Given the description of an element on the screen output the (x, y) to click on. 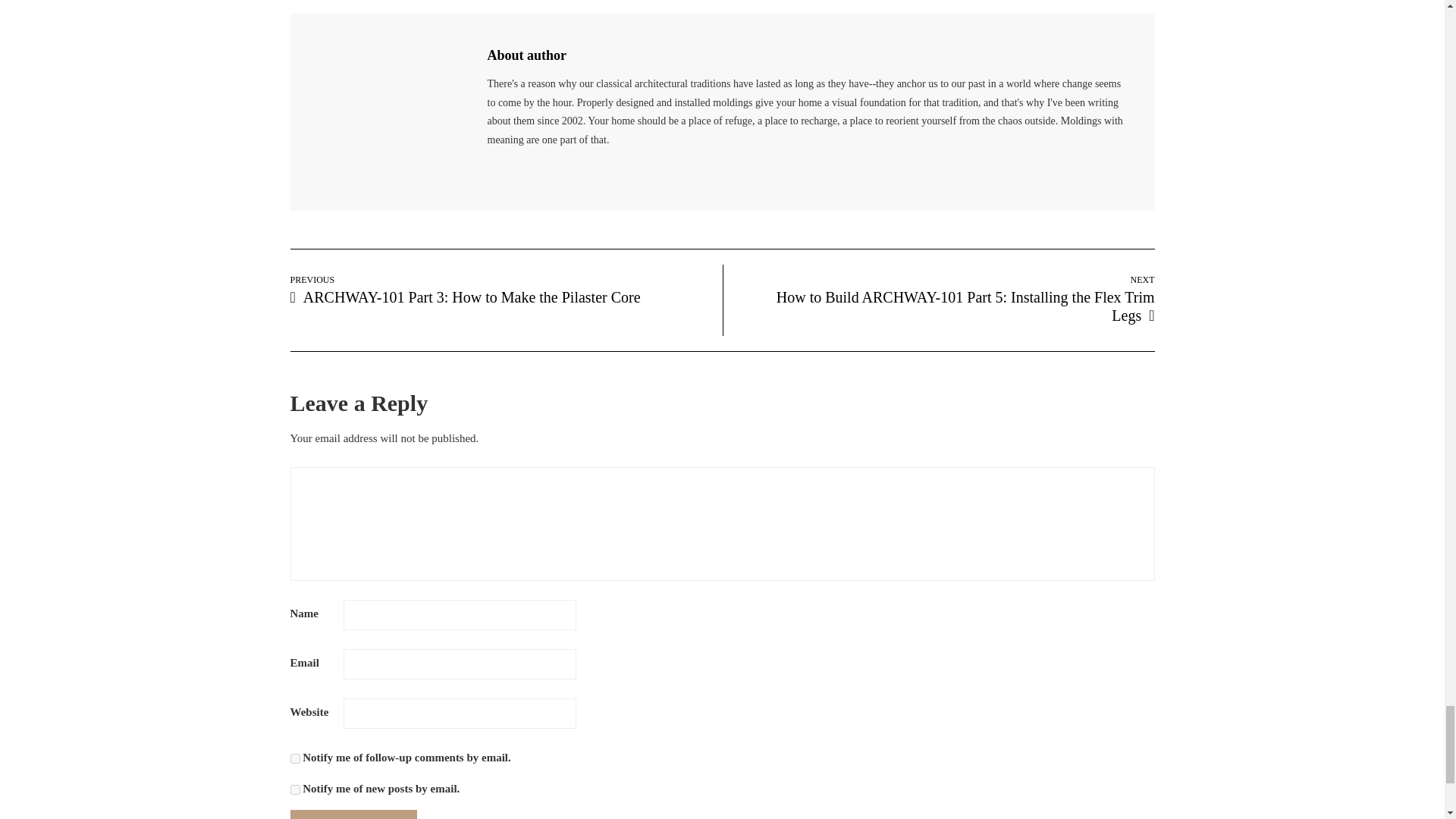
subscribe (294, 758)
subscribe (294, 789)
Post comment (352, 814)
